Given the description of an element on the screen output the (x, y) to click on. 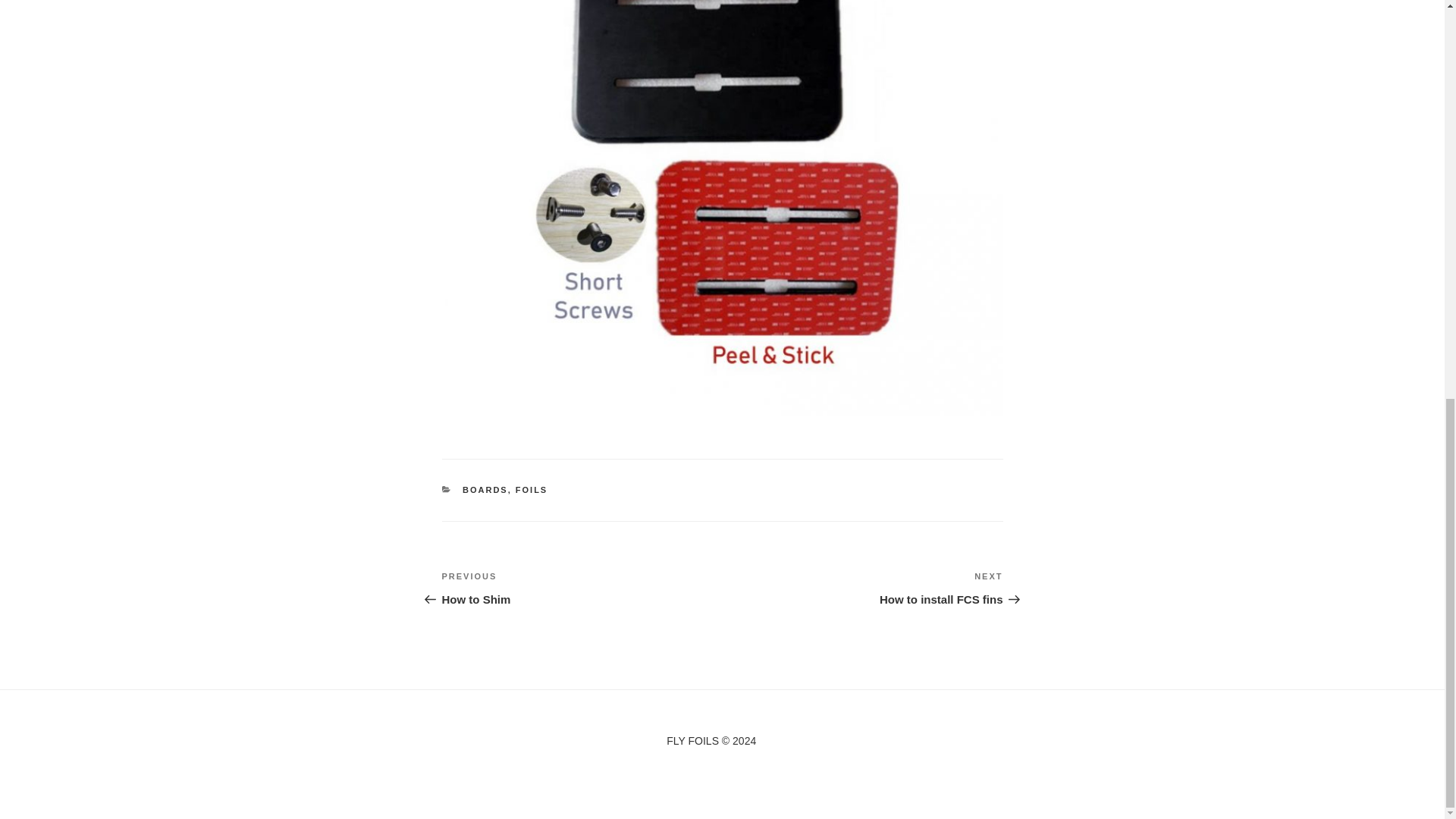
BOARDS (485, 489)
FOILS (581, 588)
